Given the description of an element on the screen output the (x, y) to click on. 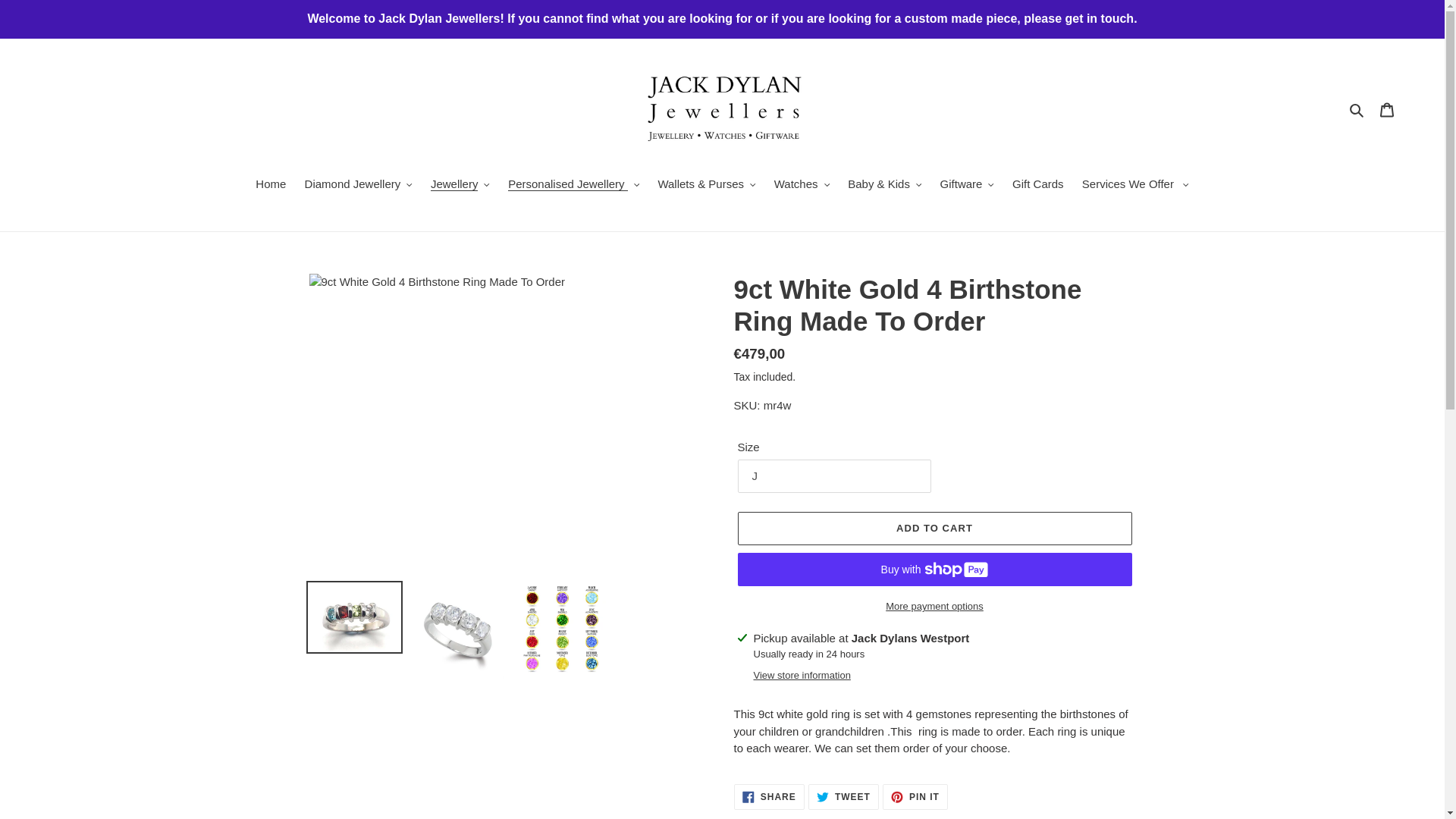
Cart (1387, 109)
Search (1357, 108)
